Given the description of an element on the screen output the (x, y) to click on. 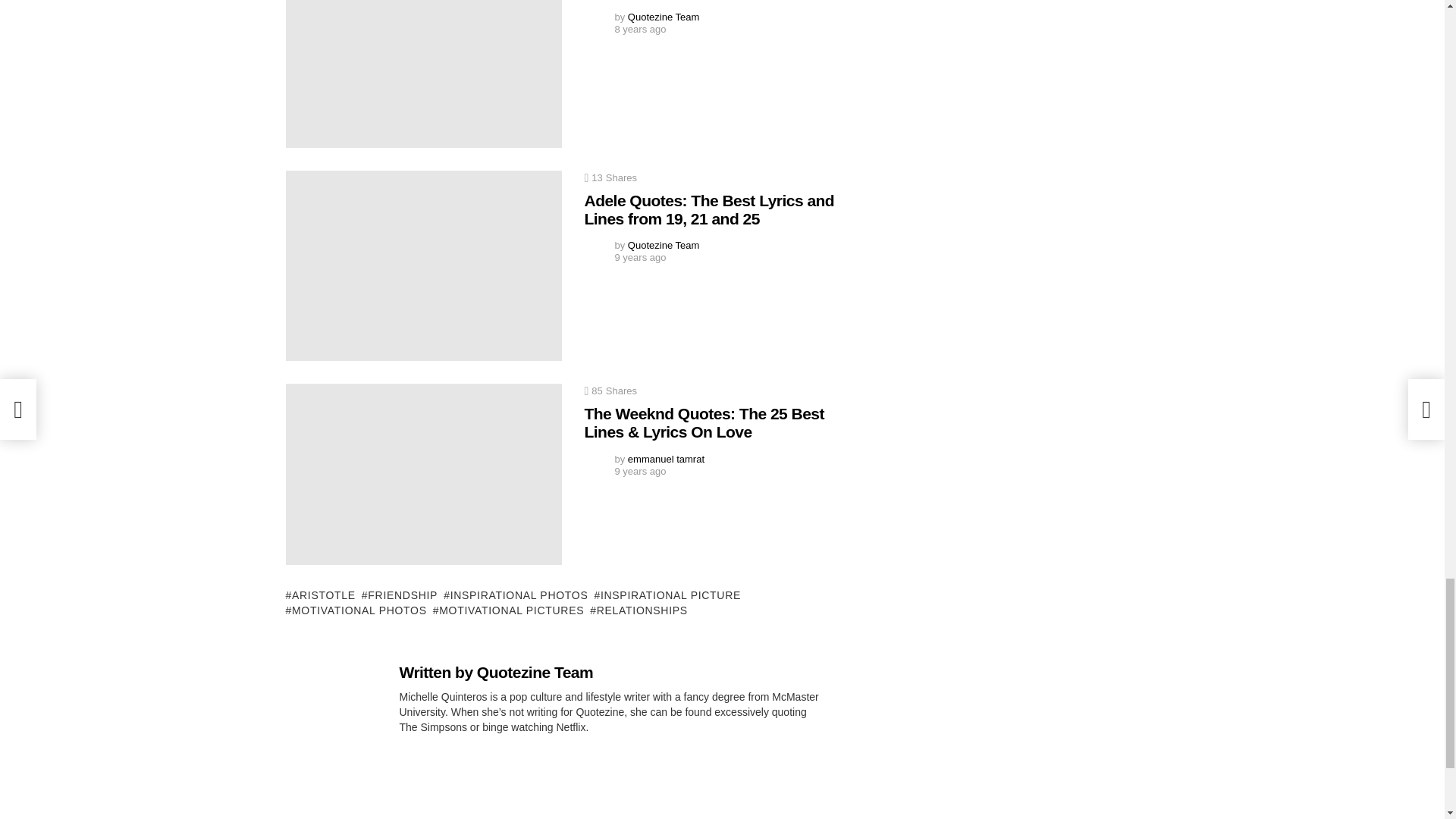
25 Hilariously Honest Chelsea Handler Quotes (422, 74)
